Given the description of an element on the screen output the (x, y) to click on. 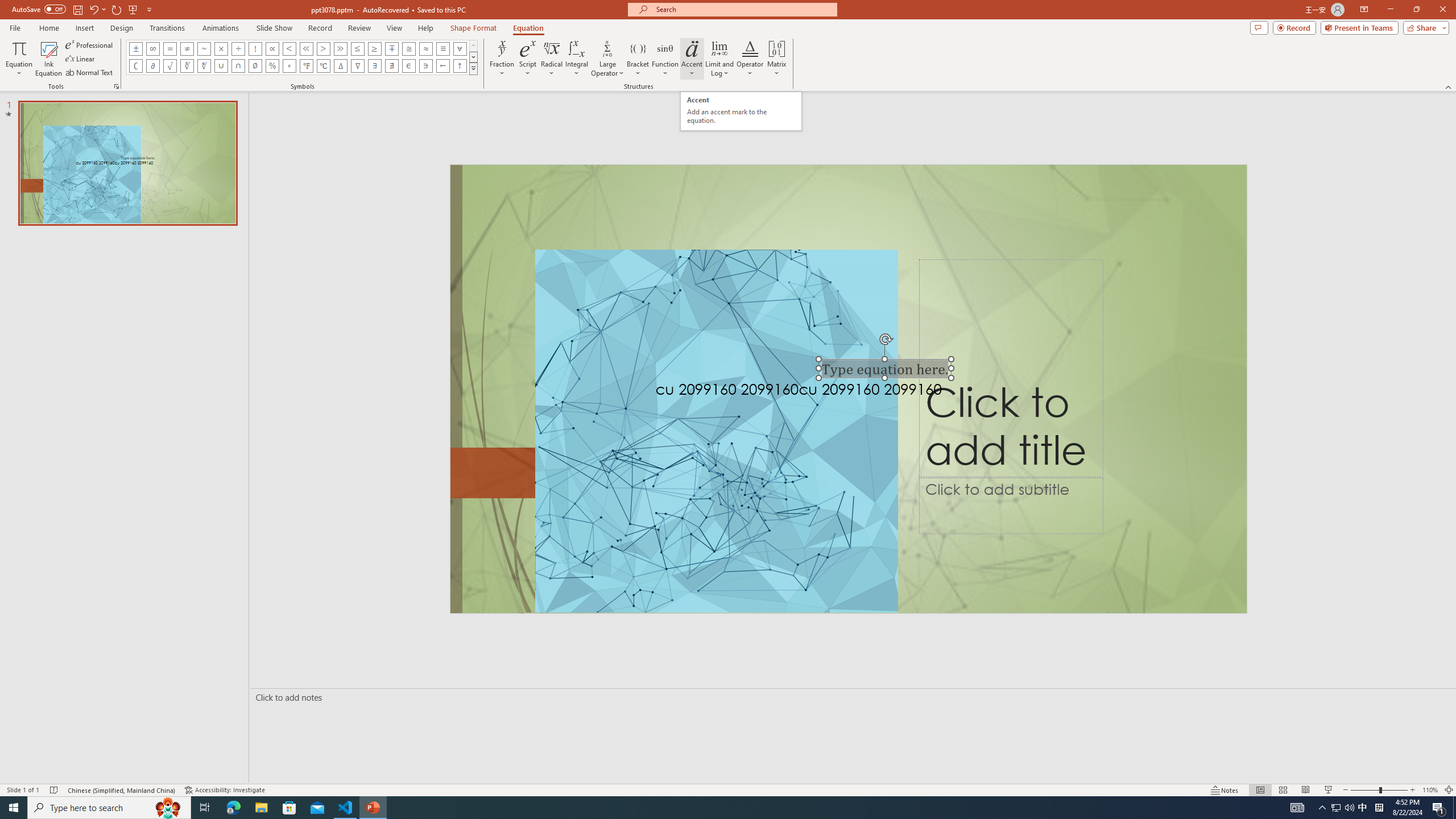
Professional (90, 44)
Equation Symbol There Exists (374, 65)
Equation Symbol Infinity (152, 48)
Equation Symbol Element Of (408, 65)
Equation Symbol Much Less Than (306, 48)
AutomationID: EquationSymbolsInsertGallery (302, 57)
